Given the description of an element on the screen output the (x, y) to click on. 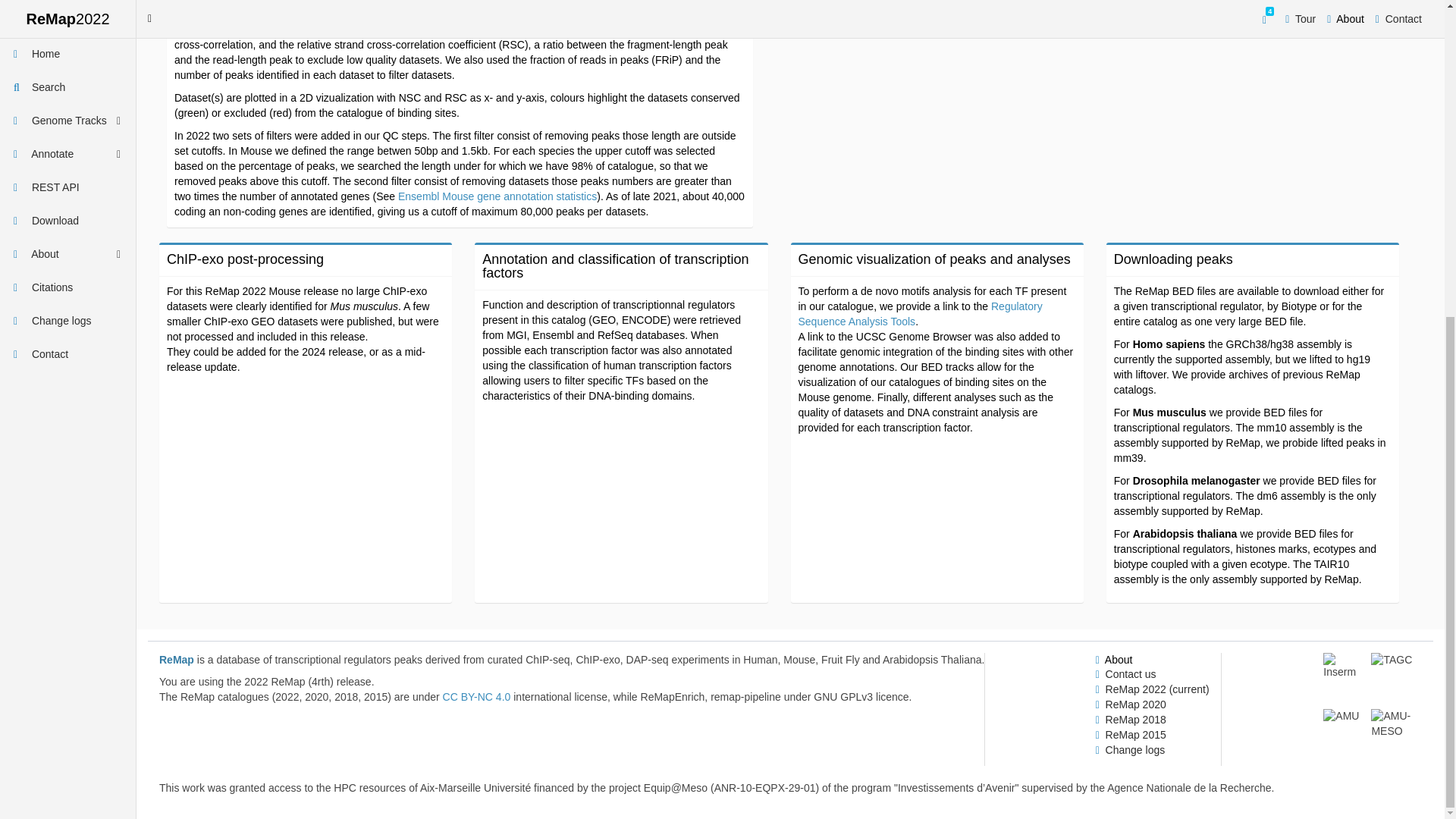
Ensembl Mouse gene annotation statistics (496, 196)
